Given the description of an element on the screen output the (x, y) to click on. 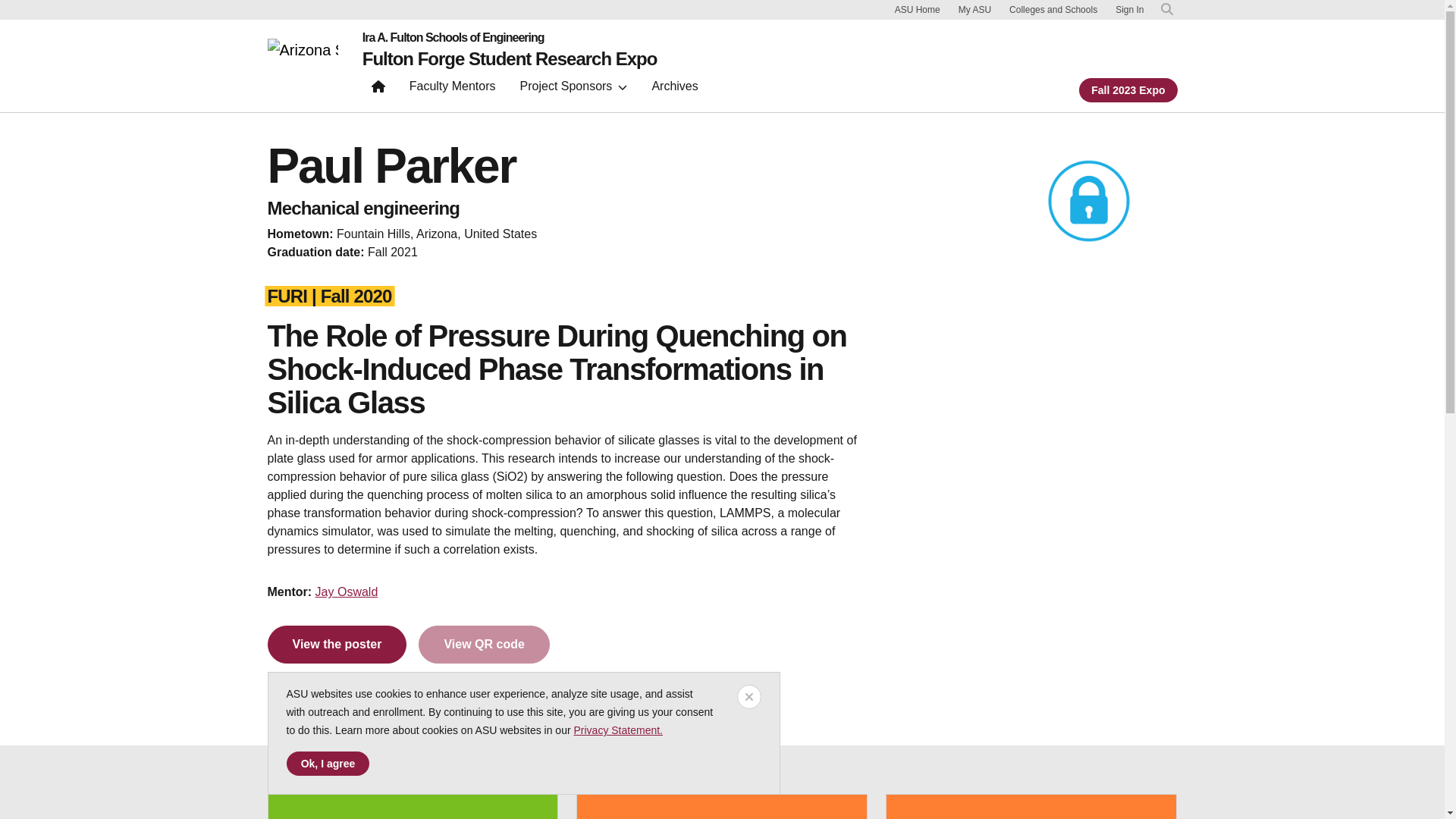
Colleges and Schools (1053, 9)
Archives (674, 89)
Archives (674, 89)
Fulton Forge Student Research Expo home page (510, 58)
Fulton Forge Student Research Expo (510, 58)
My ASU (974, 9)
View the poster (336, 644)
View QR code (483, 644)
Ira A. Fulton Schools of Engineering (510, 37)
